Given the description of an element on the screen output the (x, y) to click on. 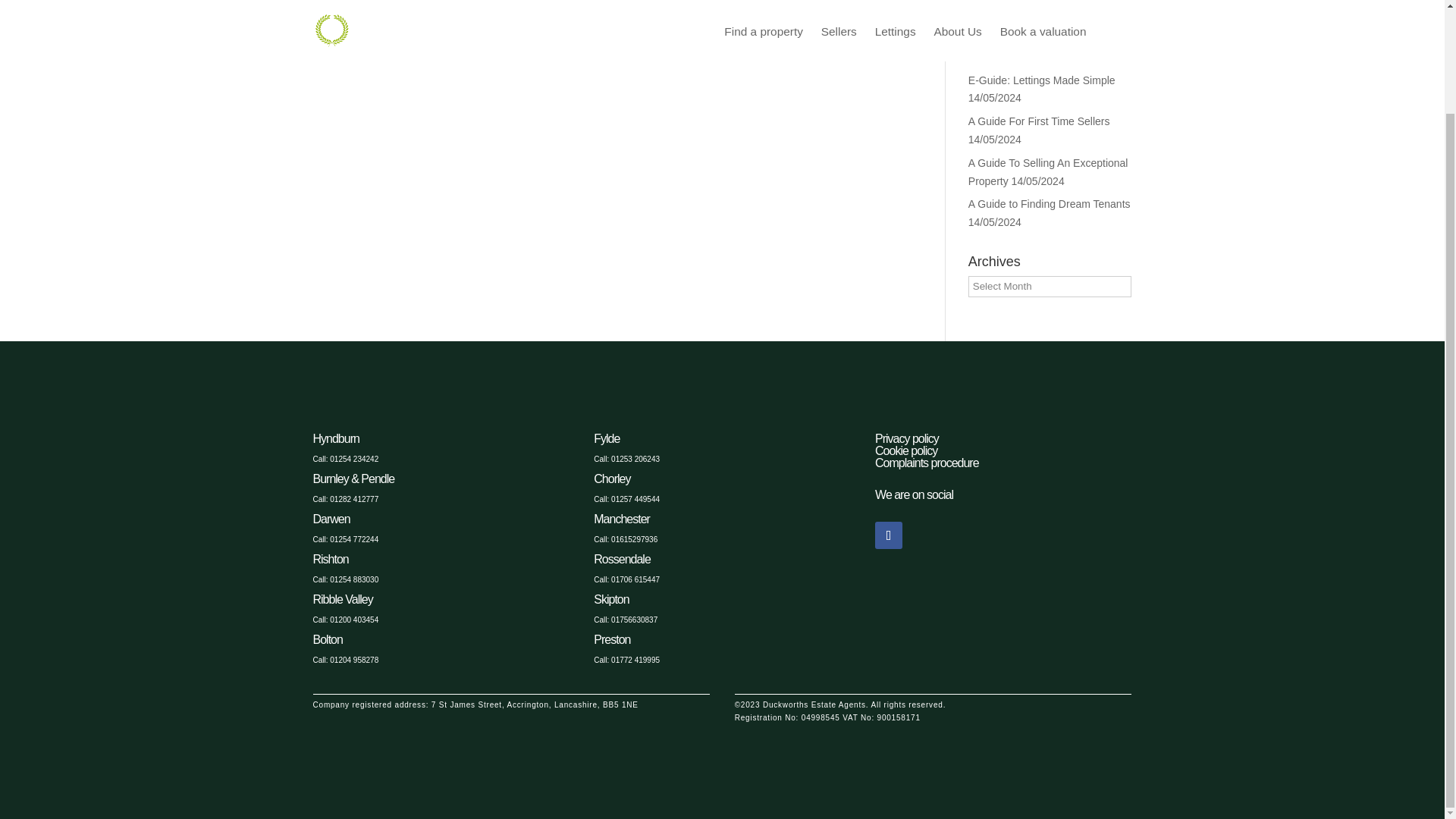
A Guide For First Time Sellers (1038, 121)
How To Run A Profitable Property Portfolio (1046, 47)
E-Guide: Lettings Made Simple (1041, 80)
A Guide to Finding Dream Tenants (1049, 203)
Complaints procedure (926, 462)
Follow on Facebook (888, 534)
Privacy policy (907, 438)
Cookie policy (906, 450)
A Guide To Selling An Exceptional Property (1048, 172)
